Given the description of an element on the screen output the (x, y) to click on. 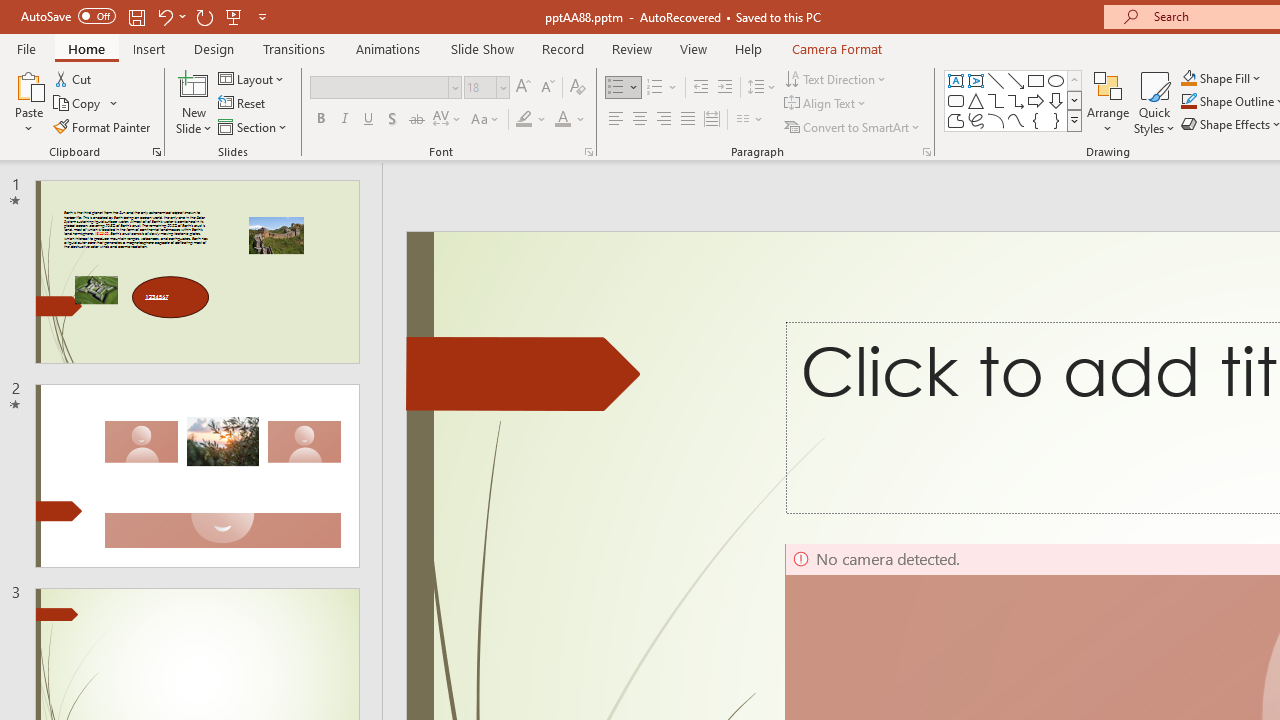
Rectangle (1035, 80)
Save (136, 15)
Font... (588, 151)
Review (631, 48)
Bold (320, 119)
Center (639, 119)
Vertical Text Box (975, 80)
Undo (170, 15)
Record (562, 48)
Paste (28, 102)
Insert (149, 48)
Strikethrough (416, 119)
New Slide (193, 102)
Clear Formatting (577, 87)
Font (379, 87)
